Given the description of an element on the screen output the (x, y) to click on. 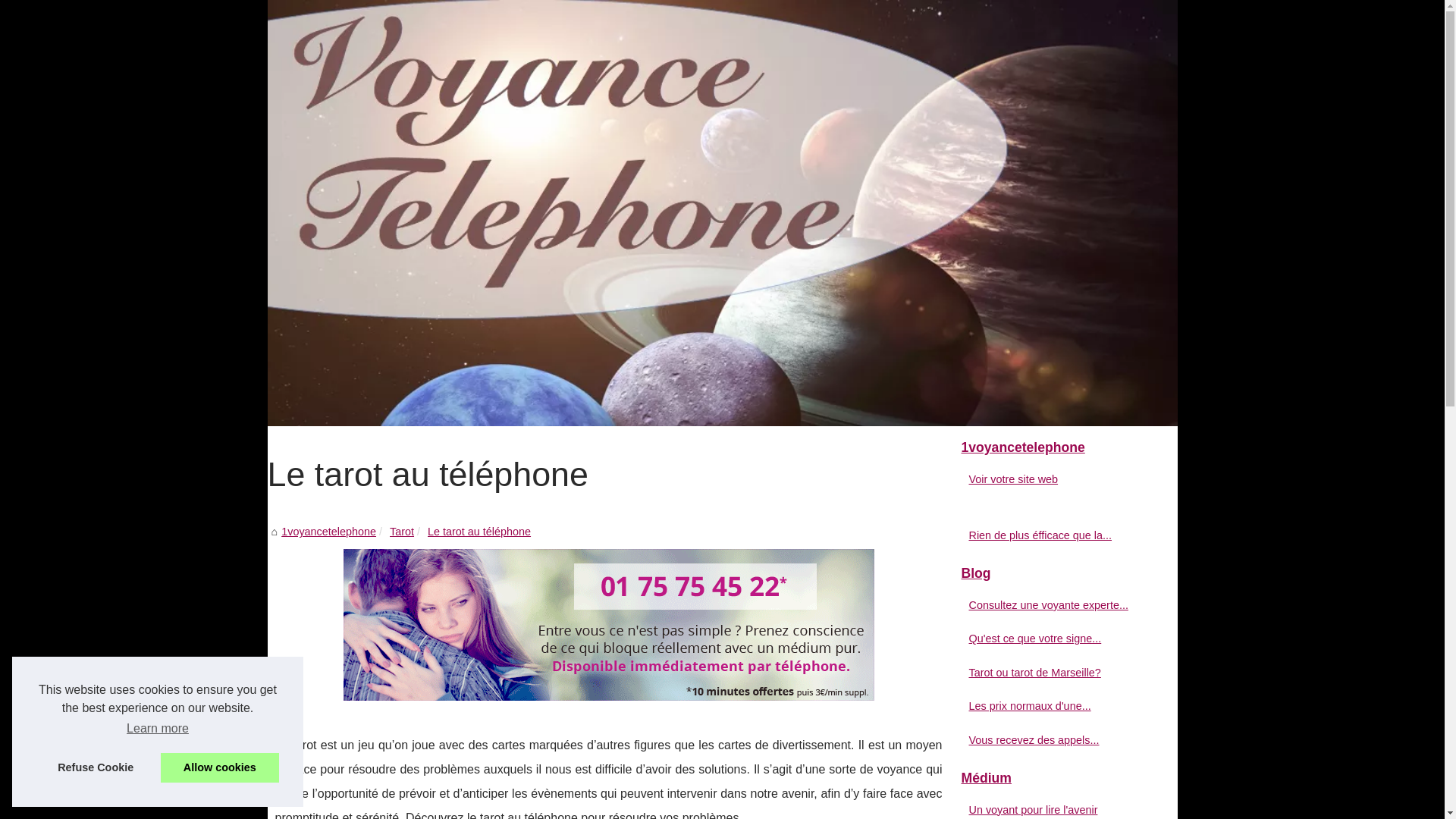
Voir votre site web Element type: text (1055, 479)
1voyancetelephone Element type: text (328, 531)
Allow cookies Element type: text (219, 767)
Vous recevez des appels... Element type: text (1055, 740)
Blog Element type: text (1063, 573)
Learn more Element type: text (157, 728)
Les prix normaux d'une... Element type: text (1055, 705)
Tarot ou tarot de Marseille? Element type: text (1055, 672)
Qu'est ce que votre signe... Element type: text (1055, 638)
1voyancetelephone Element type: text (1063, 447)
Refuse Cookie Element type: text (95, 767)
1voyancetelephone Element type: hover (721, 213)
Consultez une voyante experte... Element type: text (1055, 605)
Tarot Element type: text (401, 531)
